Given the description of an element on the screen output the (x, y) to click on. 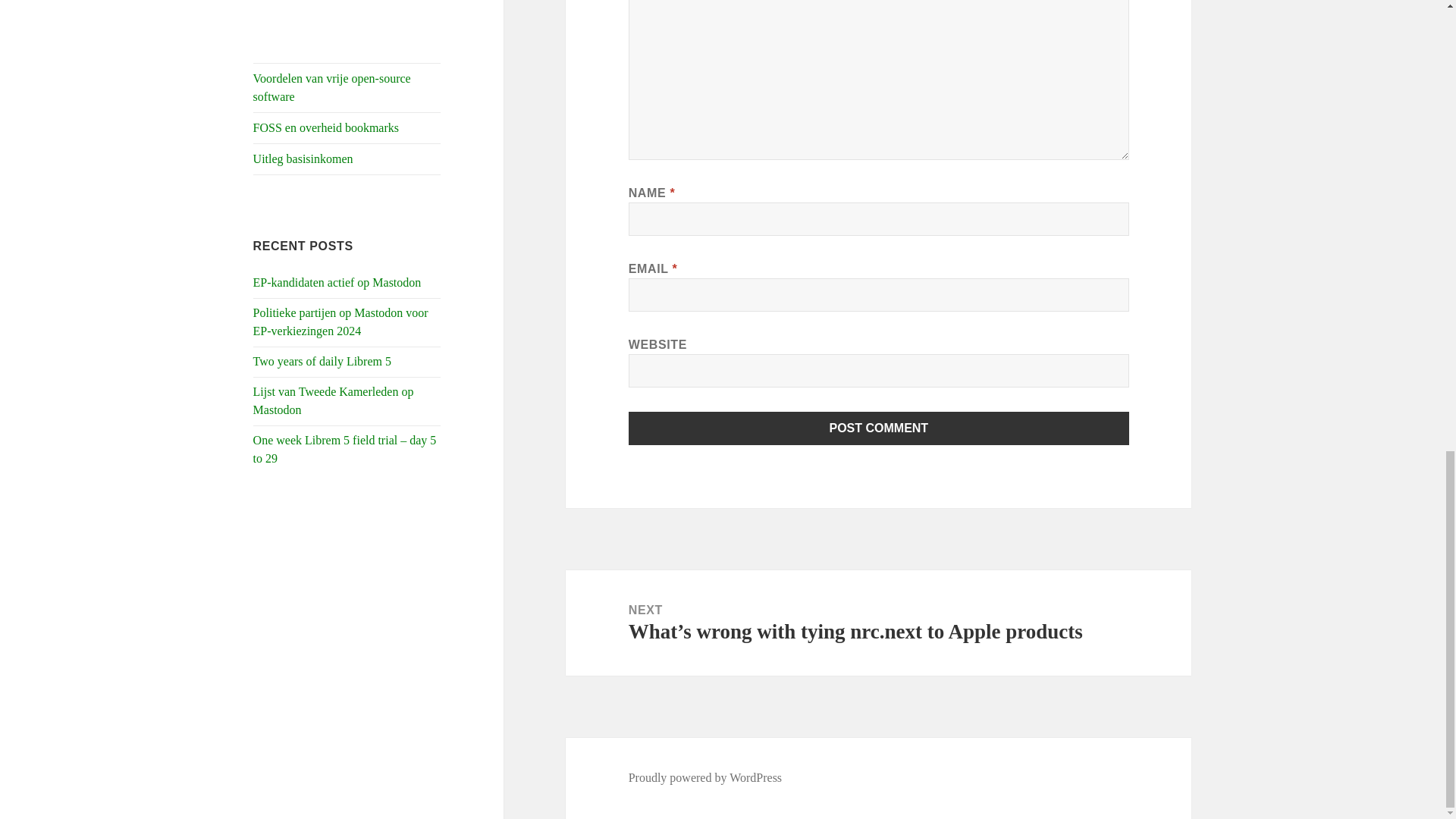
Post Comment (878, 428)
Proudly powered by WordPress (704, 777)
Post Comment (878, 428)
